Given the description of an element on the screen output the (x, y) to click on. 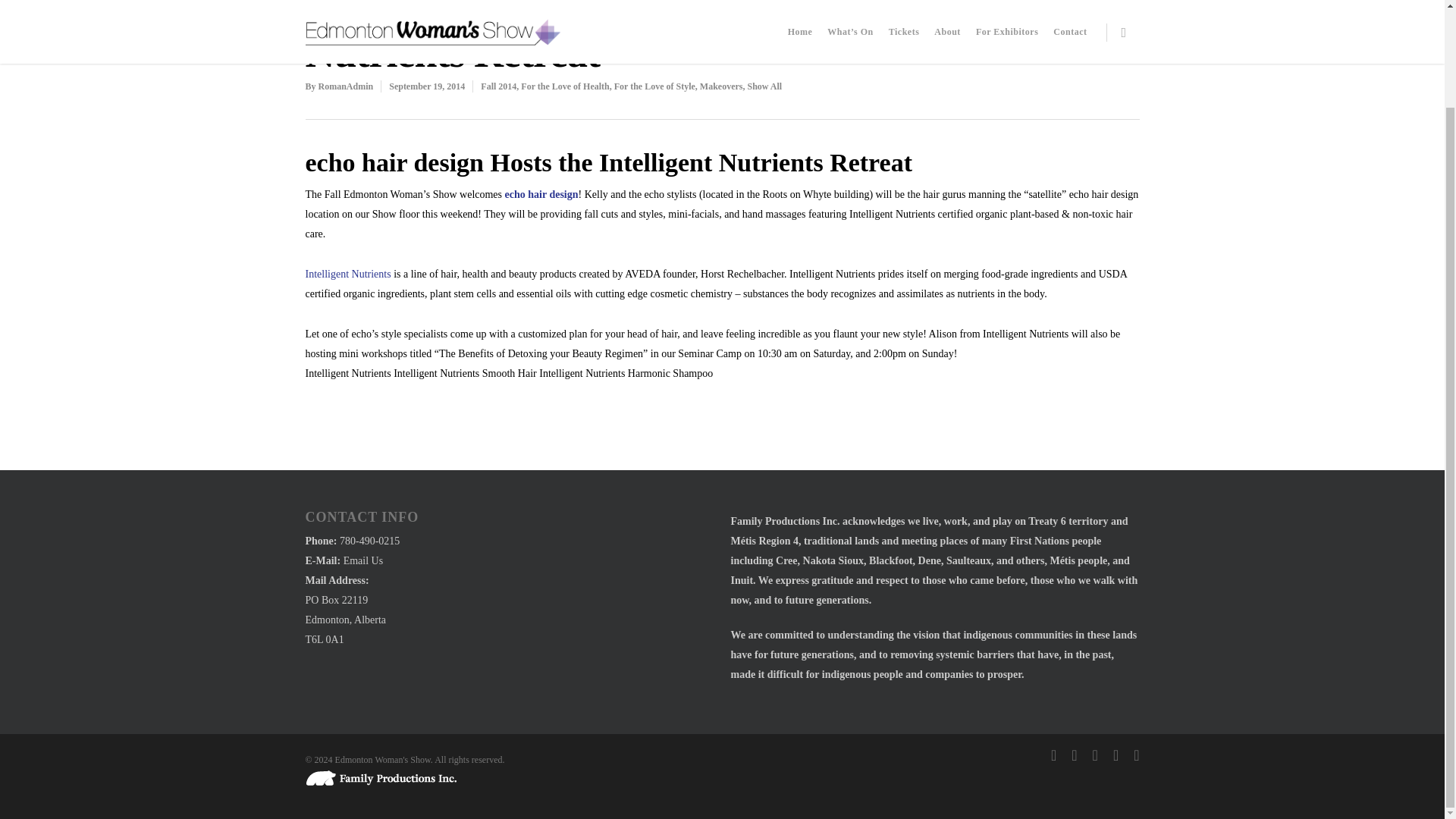
Love this (1067, 45)
Makeovers (721, 86)
Fall 2014 (498, 86)
echo hair design facebook (541, 194)
780-490-0215 (368, 541)
Email Us (363, 560)
Posts by RomanAdmin (346, 86)
No Comments (991, 46)
echo hair design (541, 194)
RomanAdmin (346, 86)
